Given the description of an element on the screen output the (x, y) to click on. 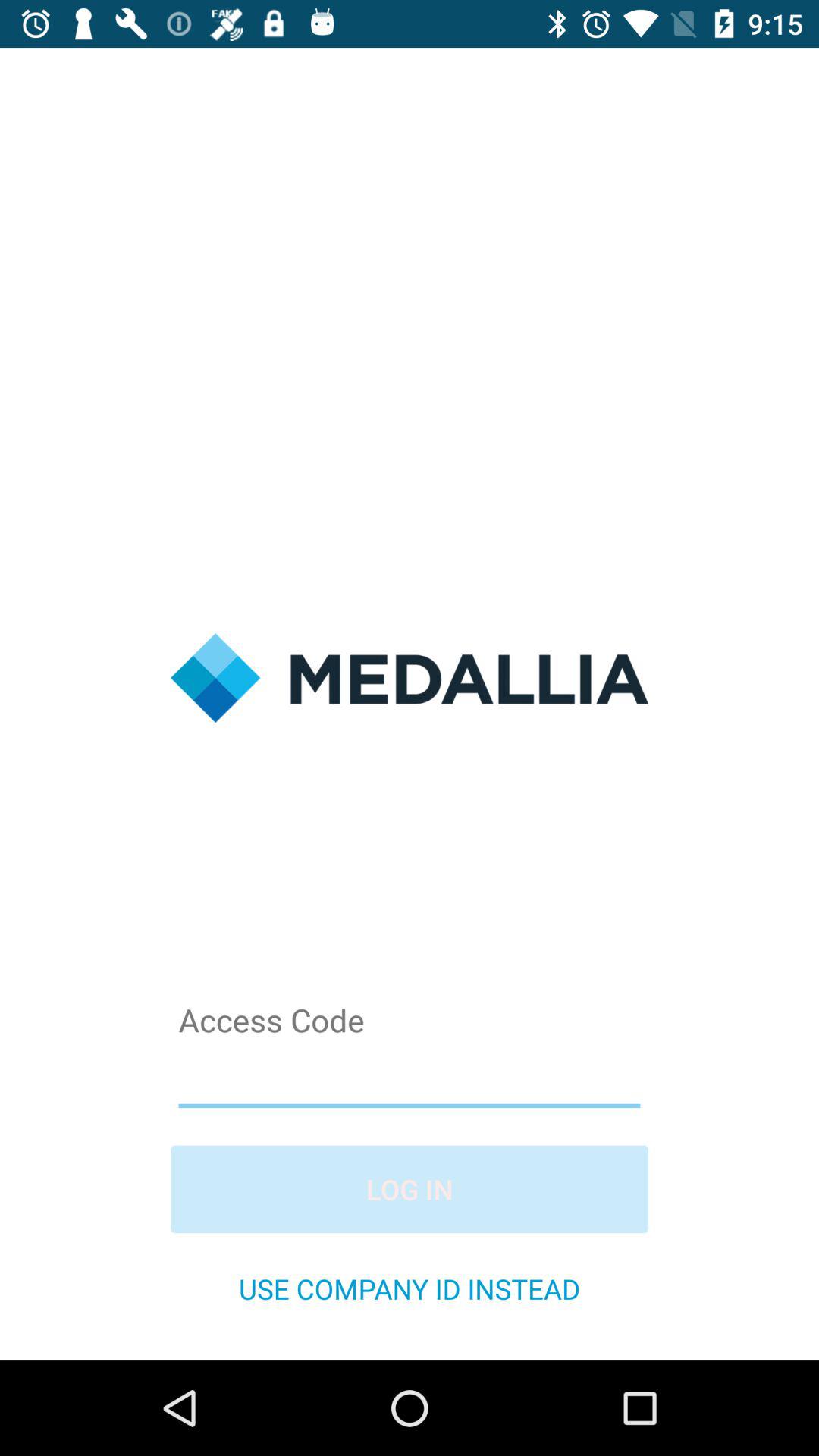
enter access code (409, 1076)
